Given the description of an element on the screen output the (x, y) to click on. 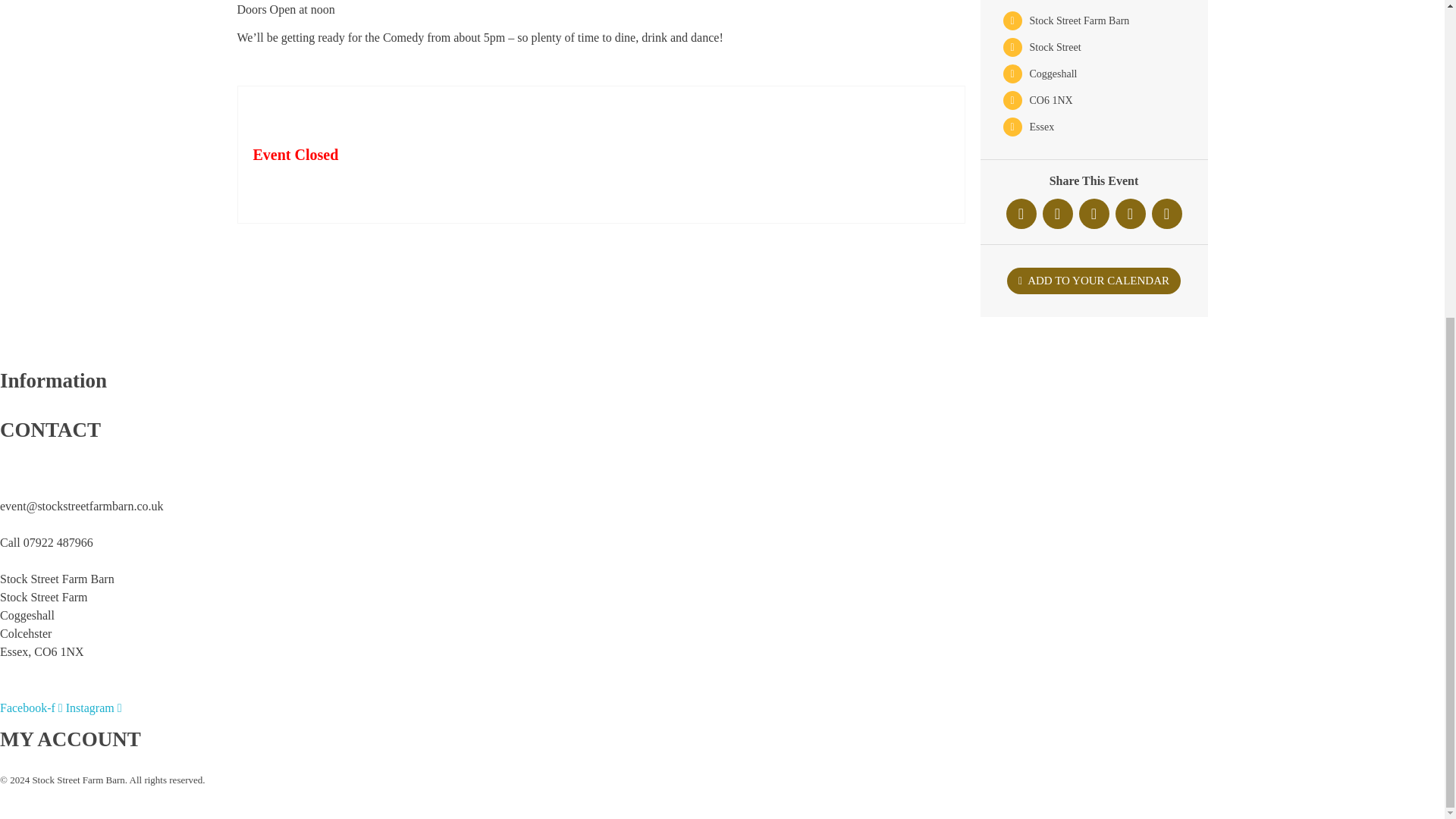
Facebook-f (32, 707)
Instagram (93, 707)
Share by Email (1165, 214)
